Given the description of an element on the screen output the (x, y) to click on. 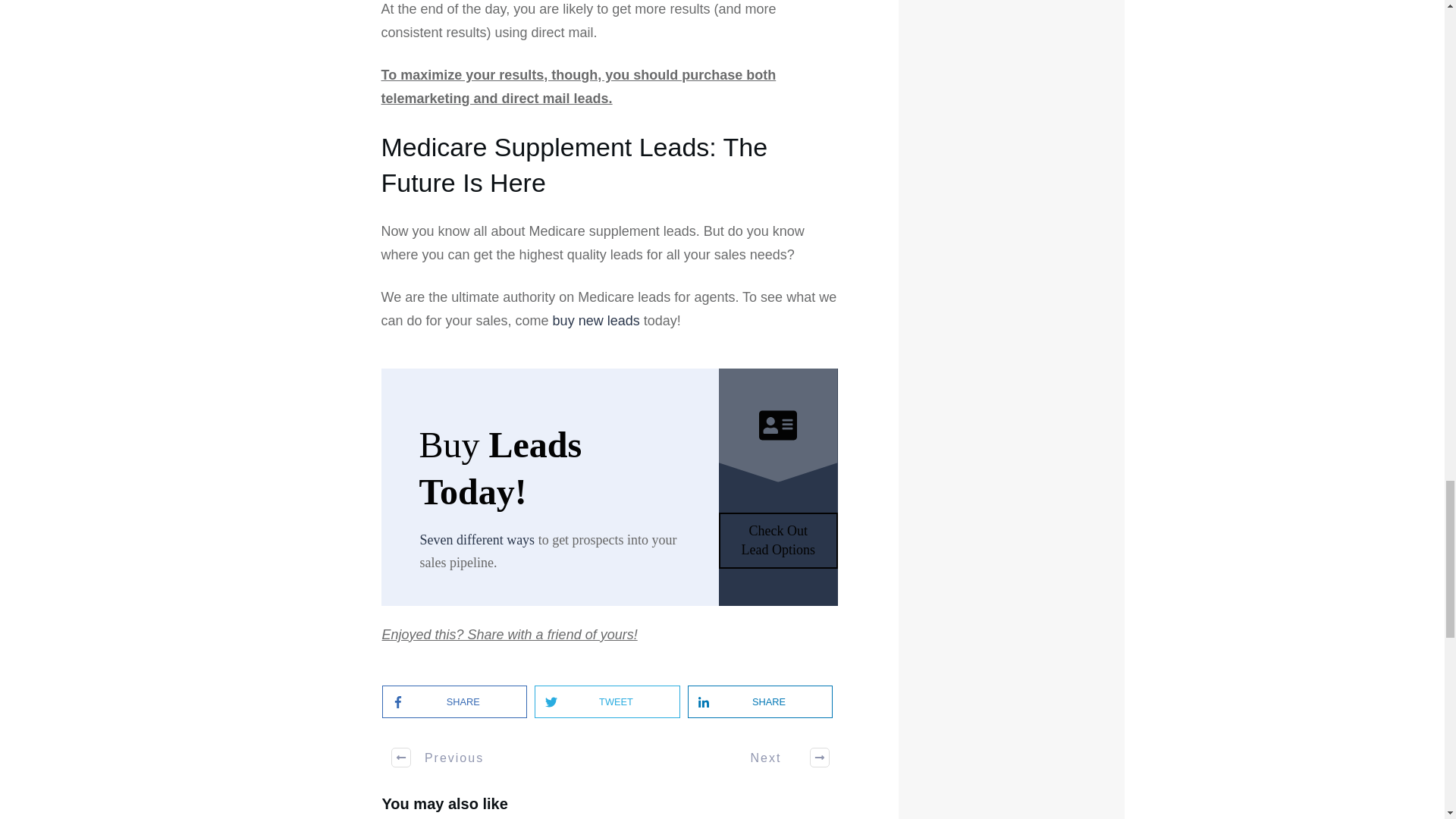
SHARE (753, 701)
SHARE (446, 701)
TWEET (600, 701)
buy new leads (596, 320)
Next (781, 757)
Previous (438, 757)
Check Out Lead Options (778, 540)
